Given the description of an element on the screen output the (x, y) to click on. 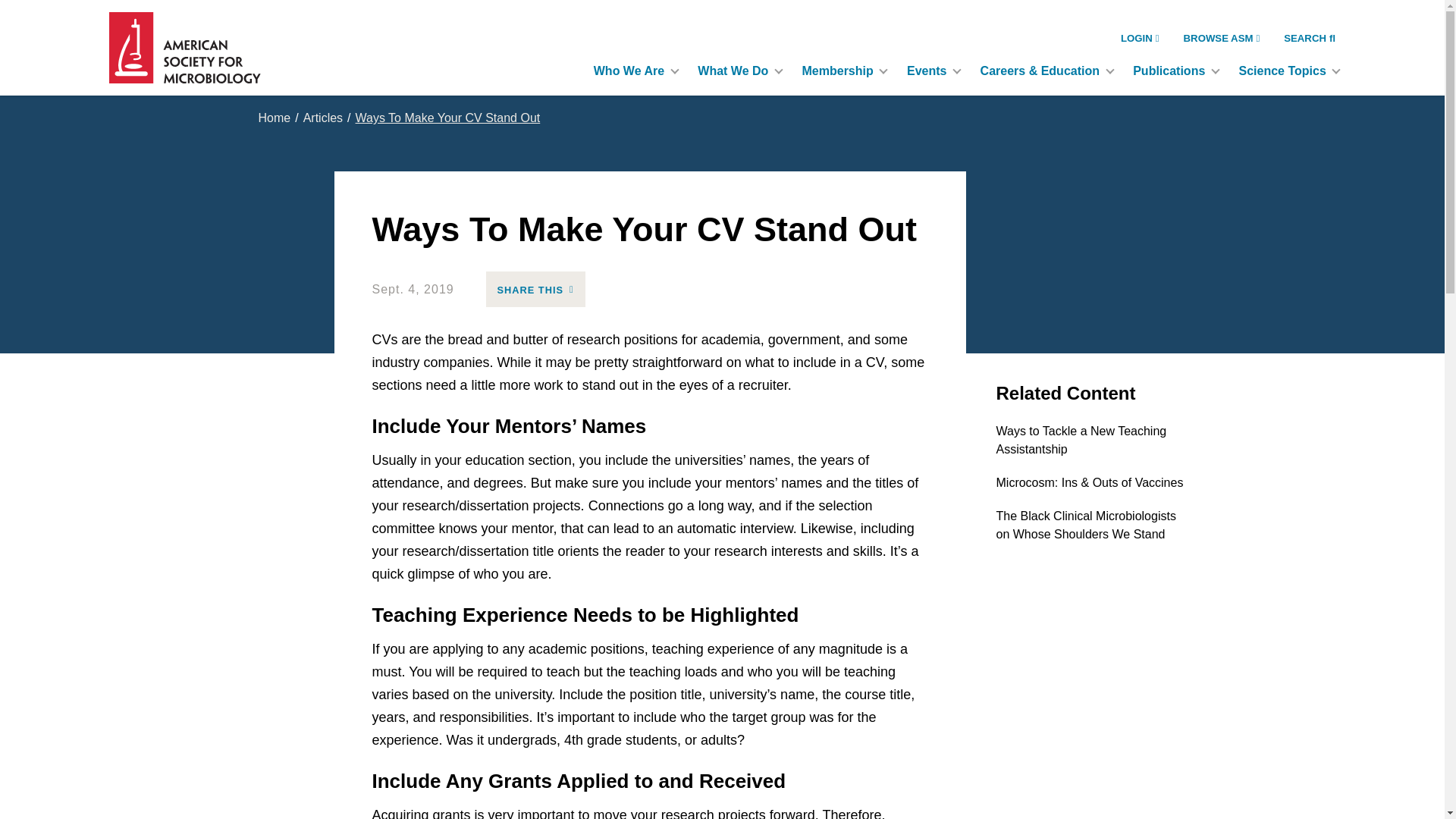
Who We Are (632, 70)
What We Do (737, 70)
Membership (842, 70)
SEARCH (1309, 38)
LOGIN (1140, 38)
BROWSE ASM (1222, 38)
Events (931, 70)
